Given the description of an element on the screen output the (x, y) to click on. 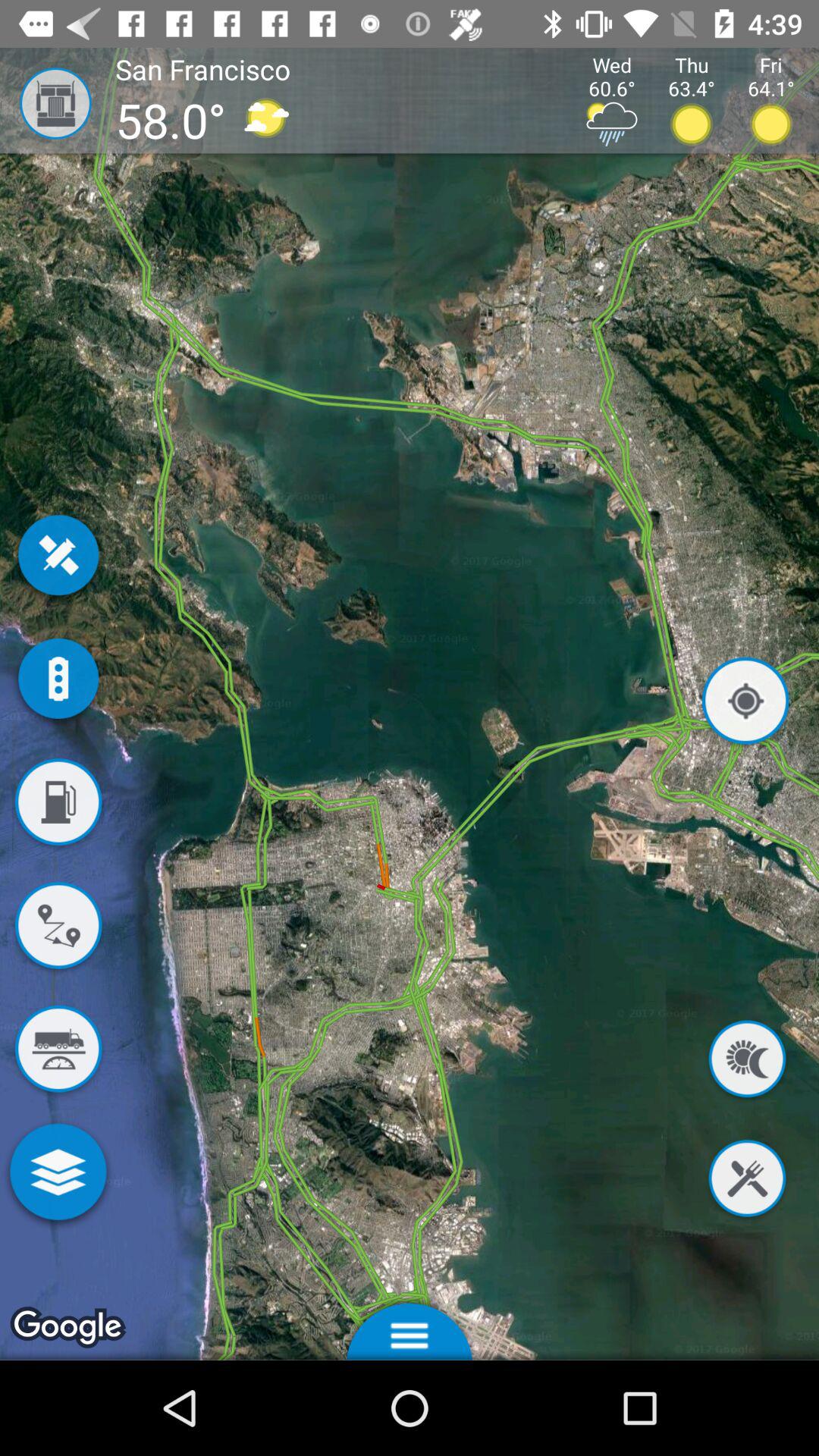
click the icon to the left of the san francisco (45, 103)
